Given the description of an element on the screen output the (x, y) to click on. 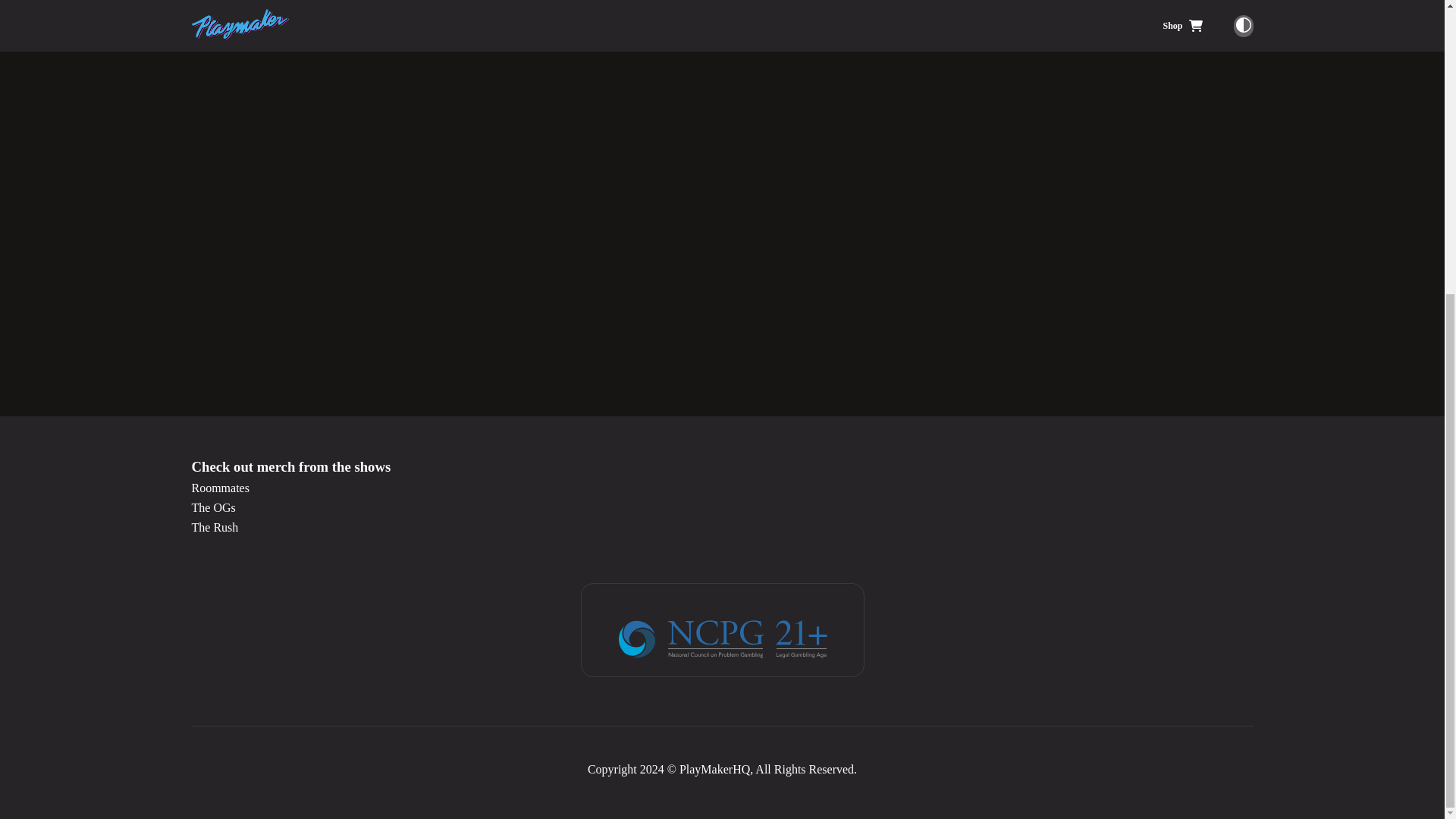
The Rush (721, 527)
The OGs (721, 508)
Roommates (721, 488)
